Given the description of an element on the screen output the (x, y) to click on. 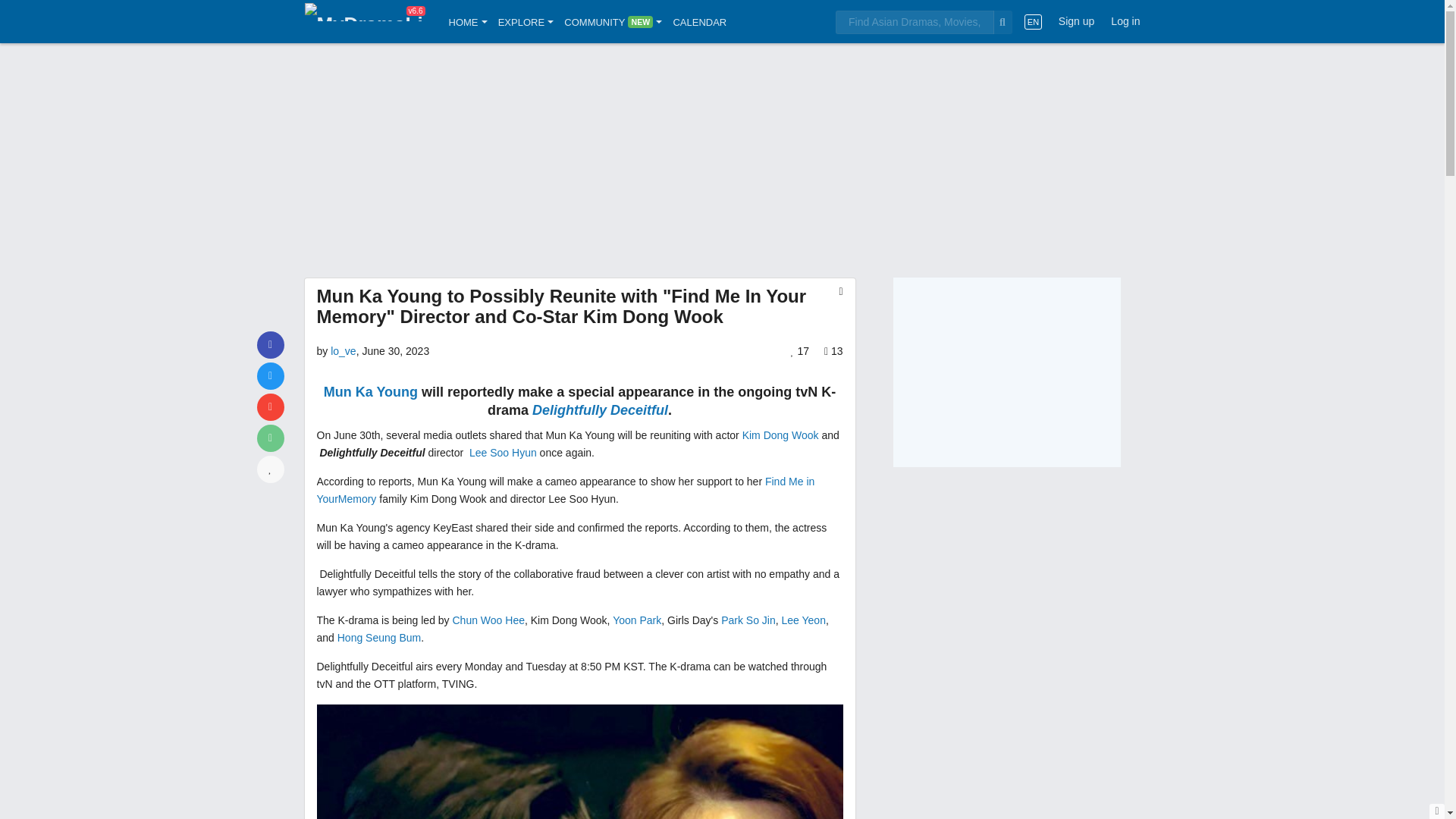
HOME (467, 21)
Hong Seung Bum (379, 637)
Park So Jin (748, 620)
v6.6 (364, 21)
Yoon Park (636, 620)
Find Me in Your Memory (566, 490)
Find Me in Your Memory (357, 499)
Chun Woo Hee (487, 620)
Kim Dong Wook (780, 435)
Delightfully Deceitful (600, 409)
